Given the description of an element on the screen output the (x, y) to click on. 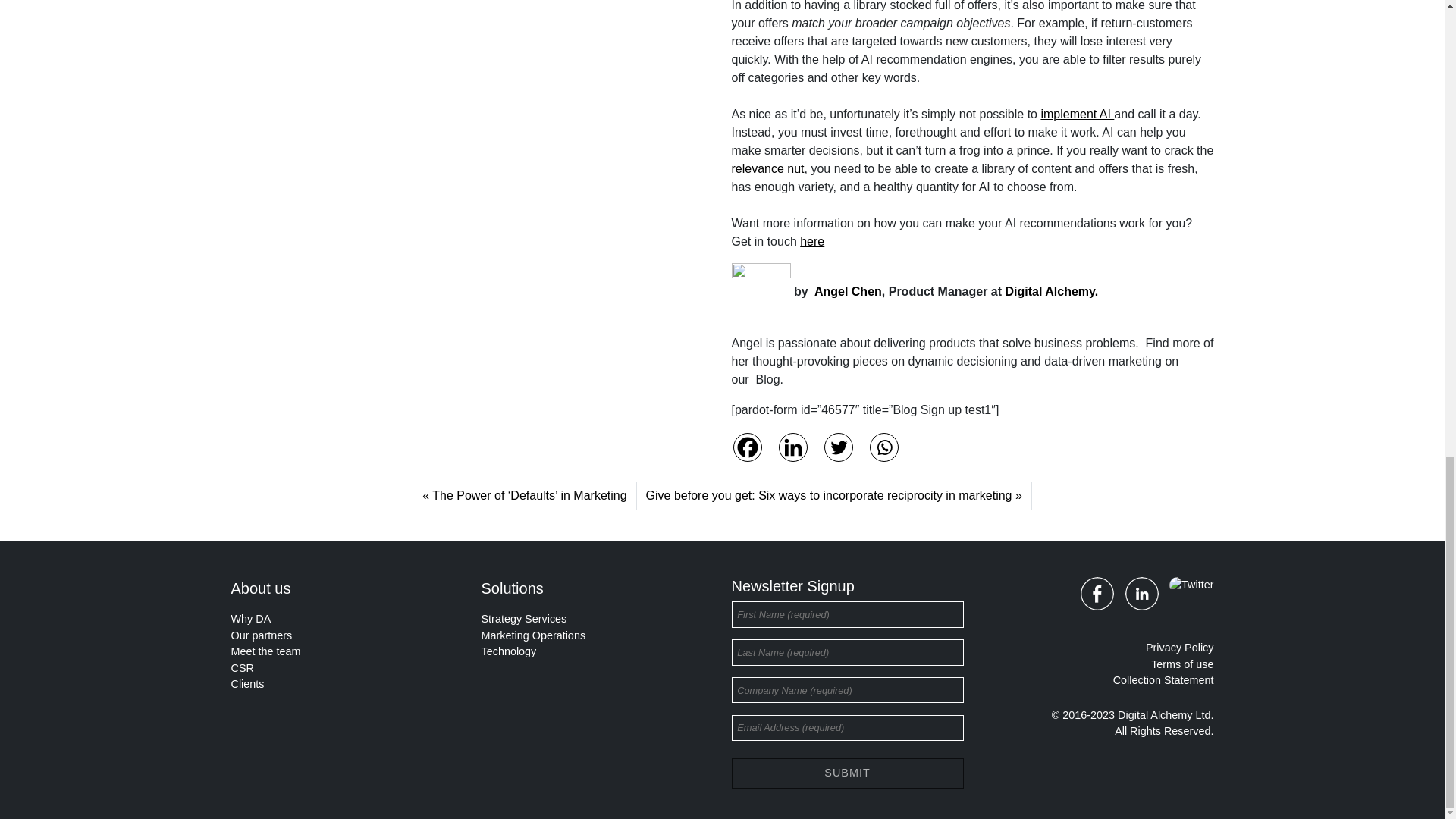
Whatsapp (883, 447)
Angel Chen (847, 291)
Facebook (746, 447)
relevance nut (766, 168)
Twitter (837, 447)
Digital Alchemy. (1052, 291)
Linkedin (791, 447)
here (811, 241)
implement AI (1077, 113)
